Given the description of an element on the screen output the (x, y) to click on. 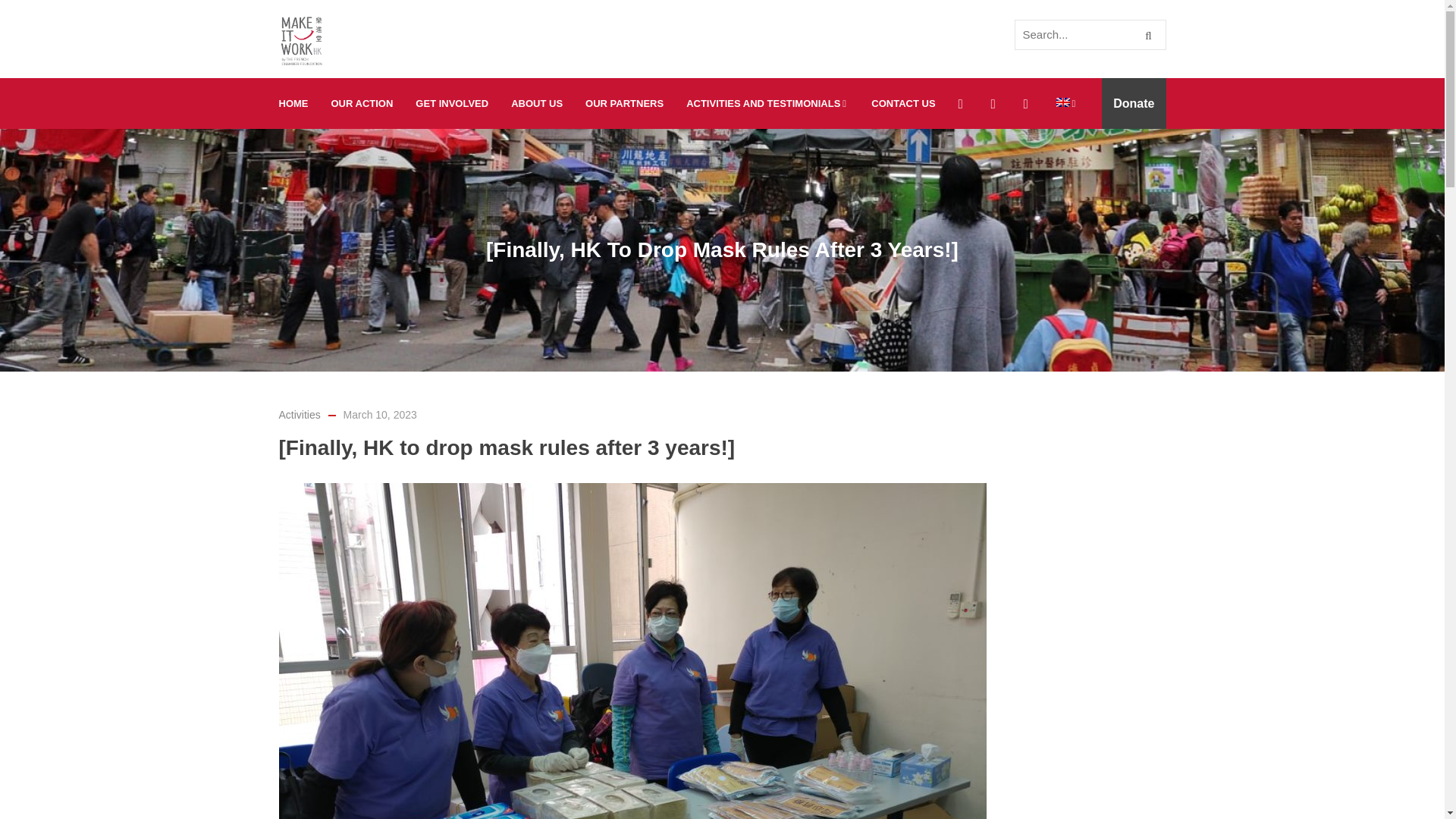
ABOUT US (536, 102)
OUR PARTNERS (624, 102)
GET INVOLVED (451, 102)
ACTIVITIES AND TESTIMONIALS (767, 102)
OUR ACTION (362, 102)
